Given the description of an element on the screen output the (x, y) to click on. 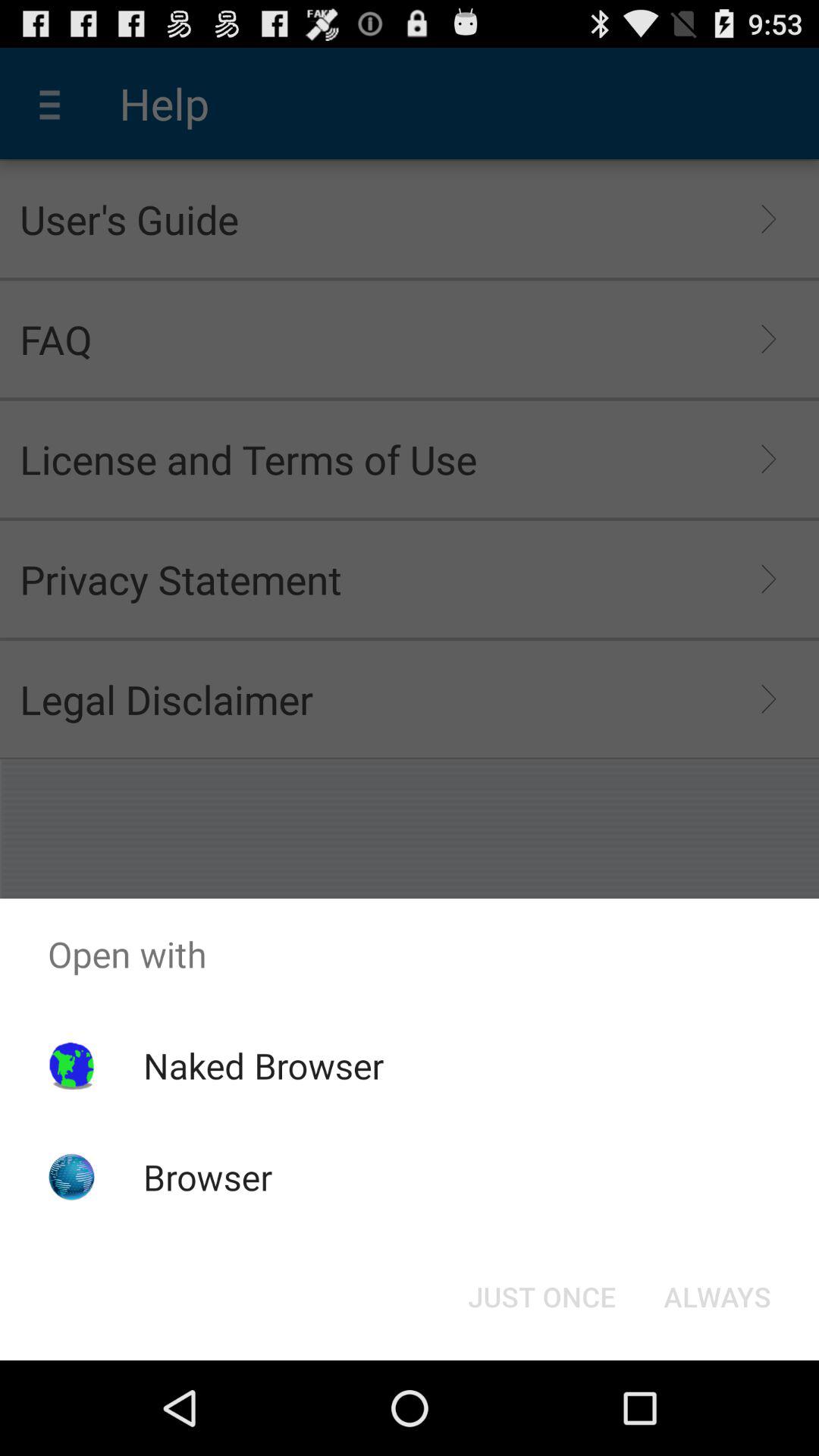
scroll to naked browser app (263, 1065)
